Given the description of an element on the screen output the (x, y) to click on. 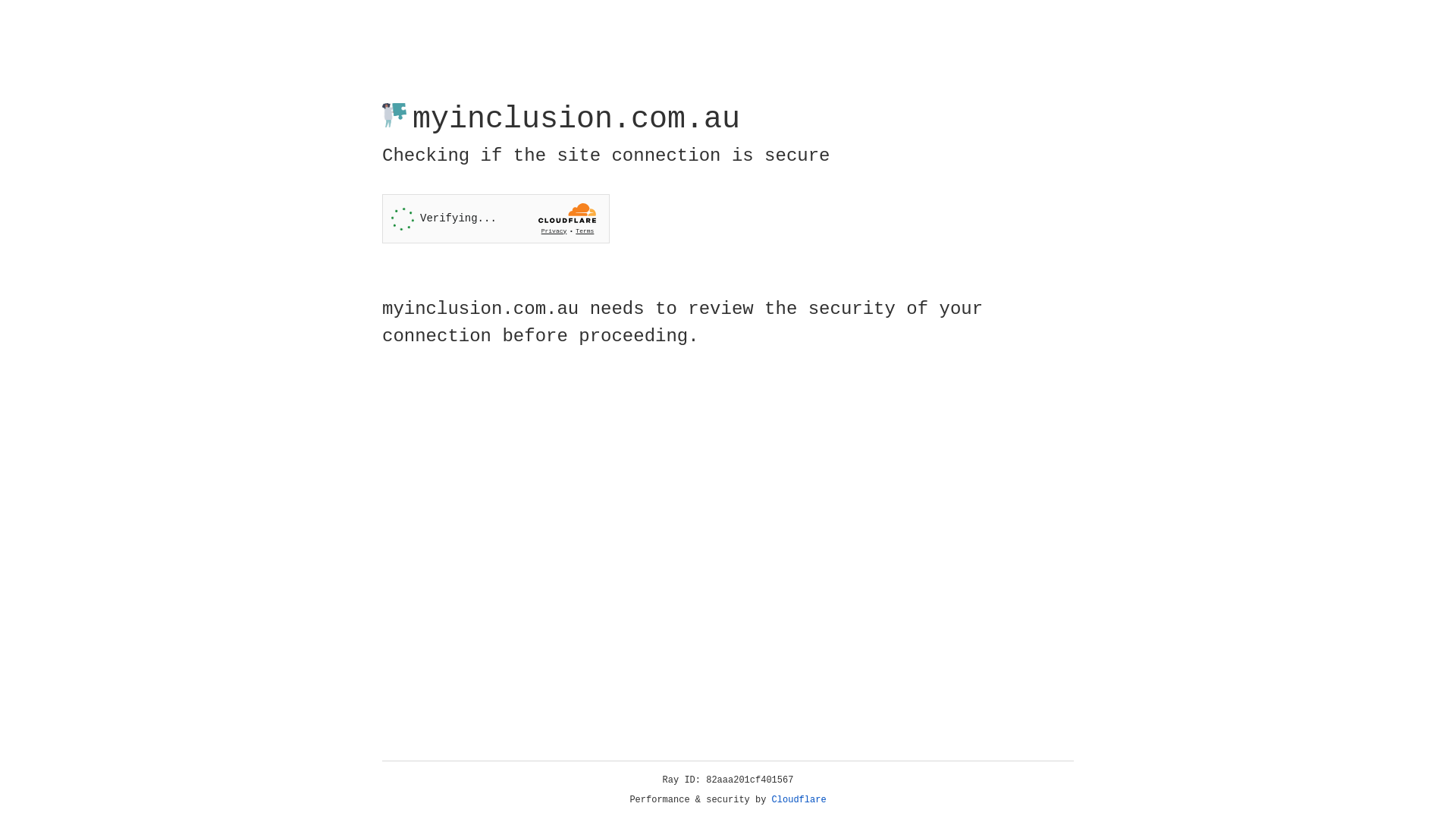
Cloudflare Element type: text (798, 799)
Widget containing a Cloudflare security challenge Element type: hover (495, 218)
